Given the description of an element on the screen output the (x, y) to click on. 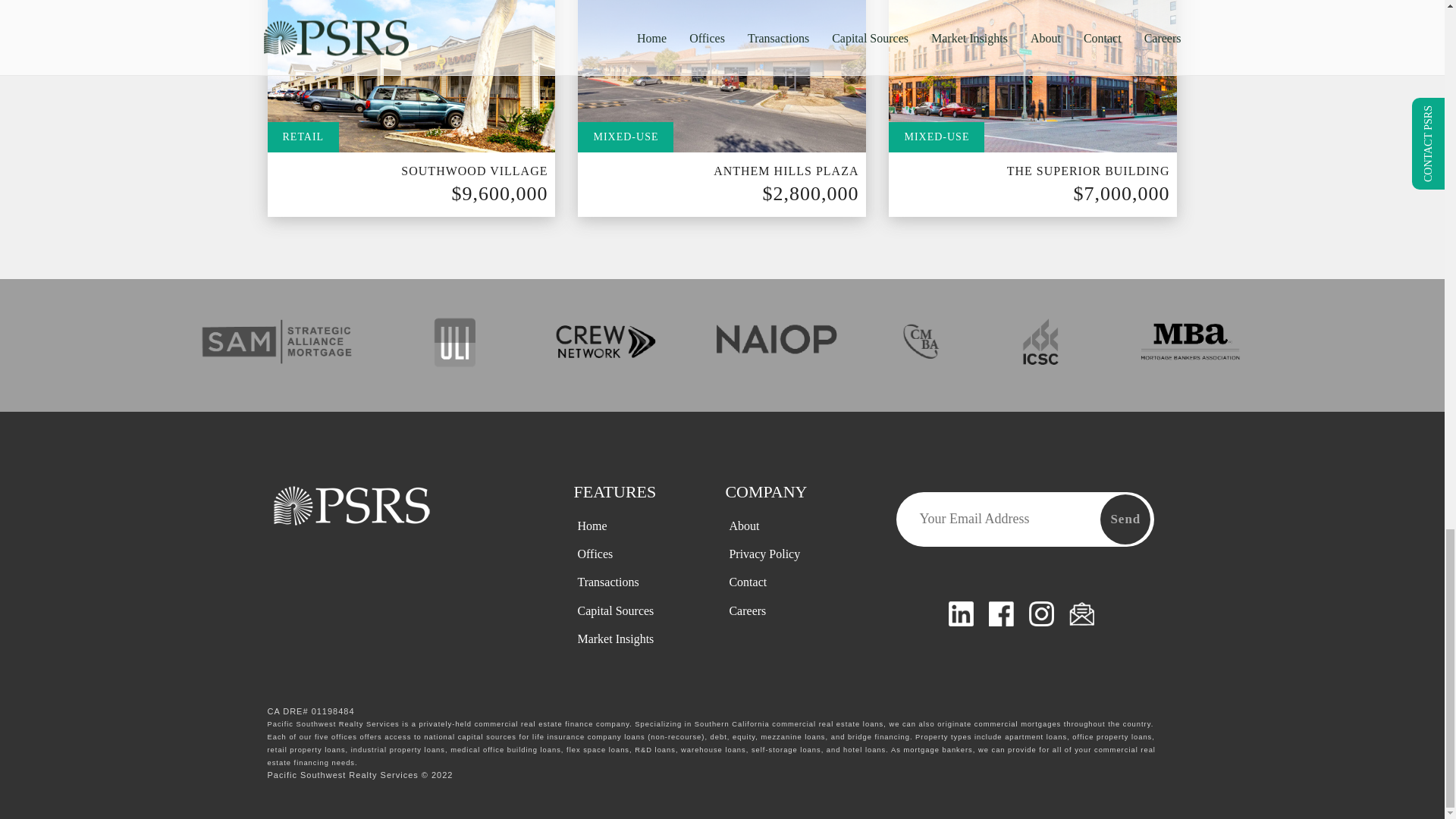
Send (1125, 519)
